Given the description of an element on the screen output the (x, y) to click on. 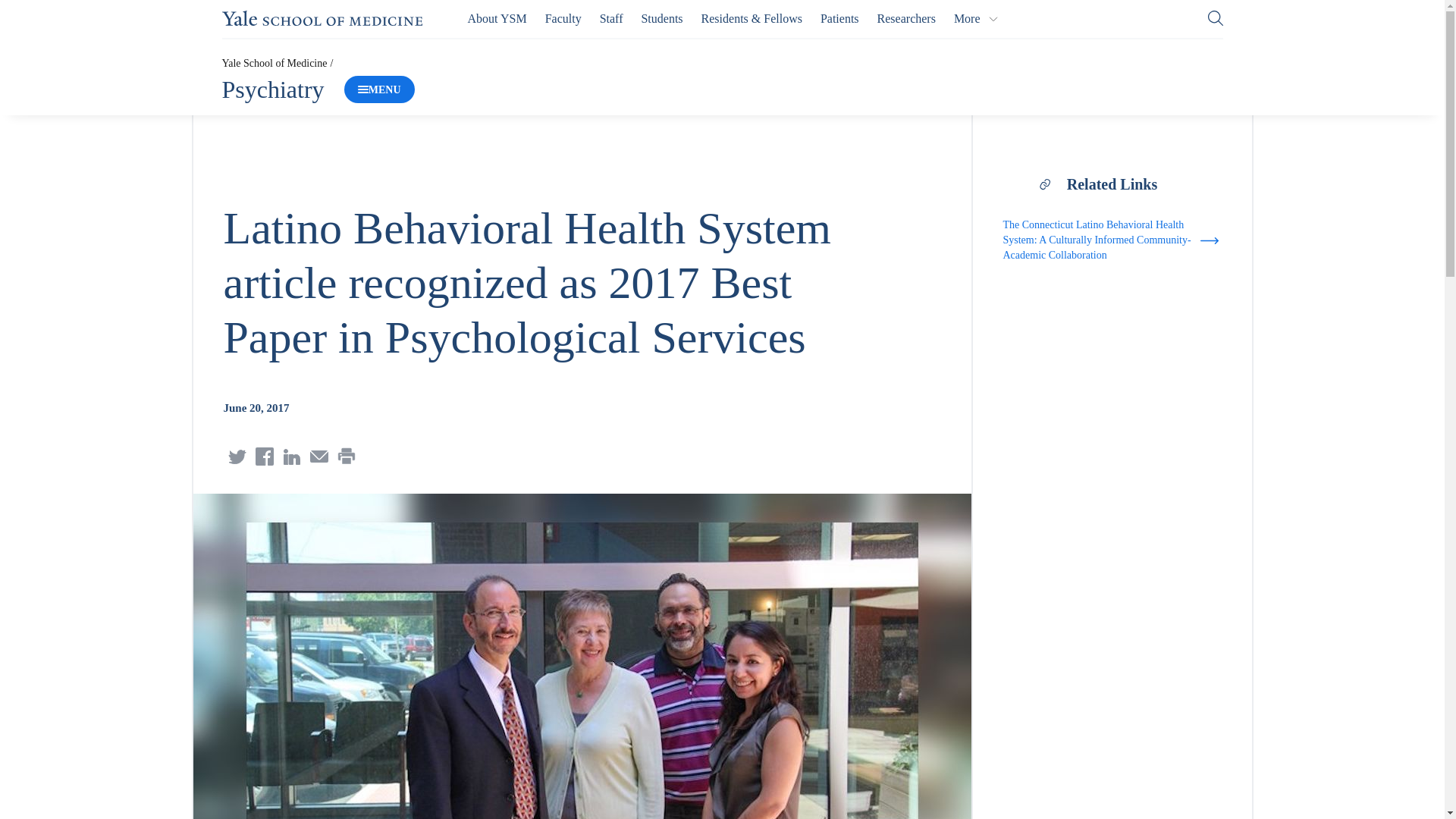
Faculty (562, 18)
Patients (840, 18)
About YSM (497, 18)
Students (661, 18)
MENU (378, 89)
Yale School of Medicine (321, 18)
Yale School of Medicine (321, 17)
Staff (611, 18)
Yale School of Medicine (273, 62)
Psychiatry (272, 89)
More (975, 18)
Researchers (906, 18)
